Given the description of an element on the screen output the (x, y) to click on. 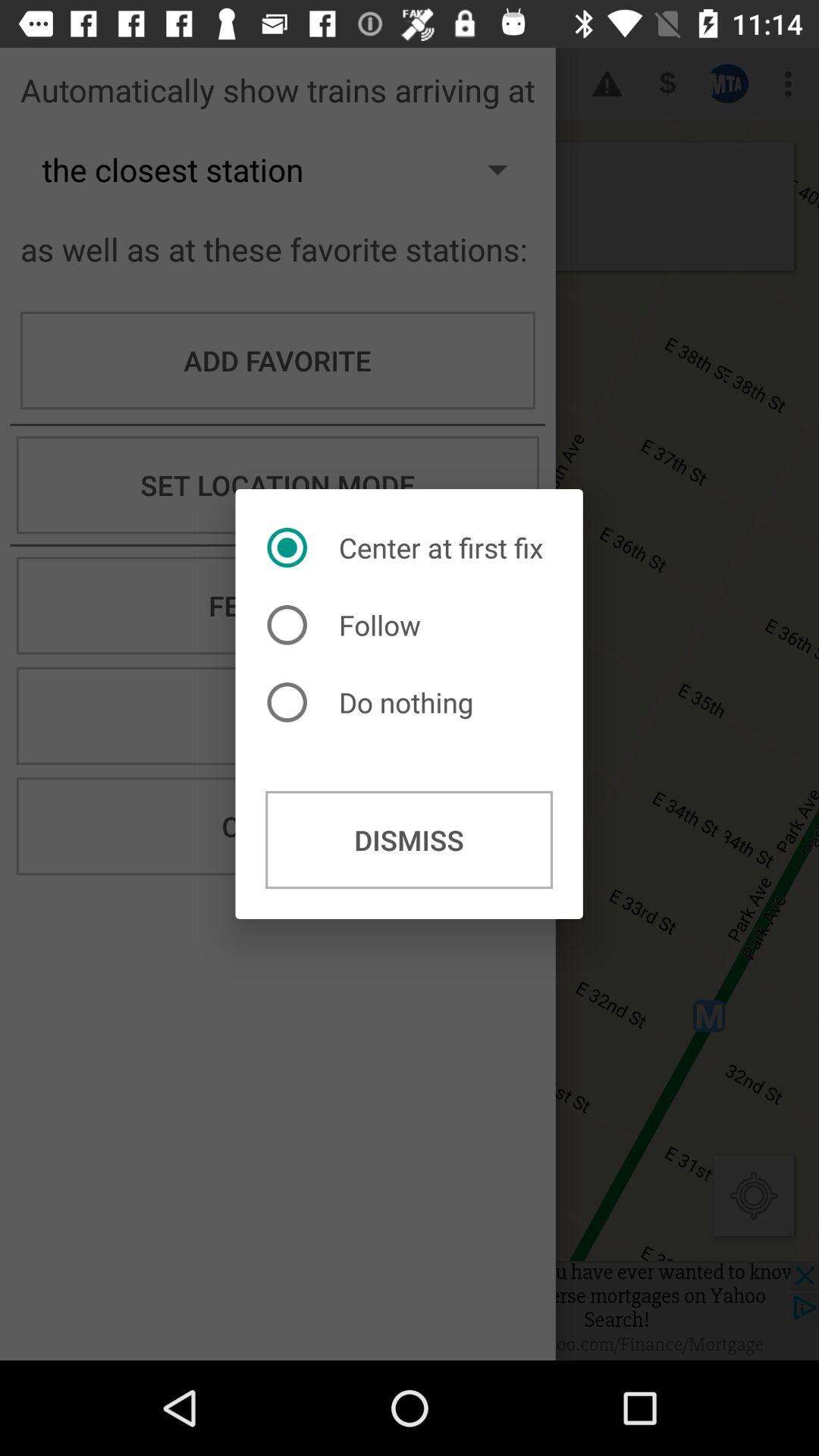
select follow radio button (347, 624)
